Given the description of an element on the screen output the (x, y) to click on. 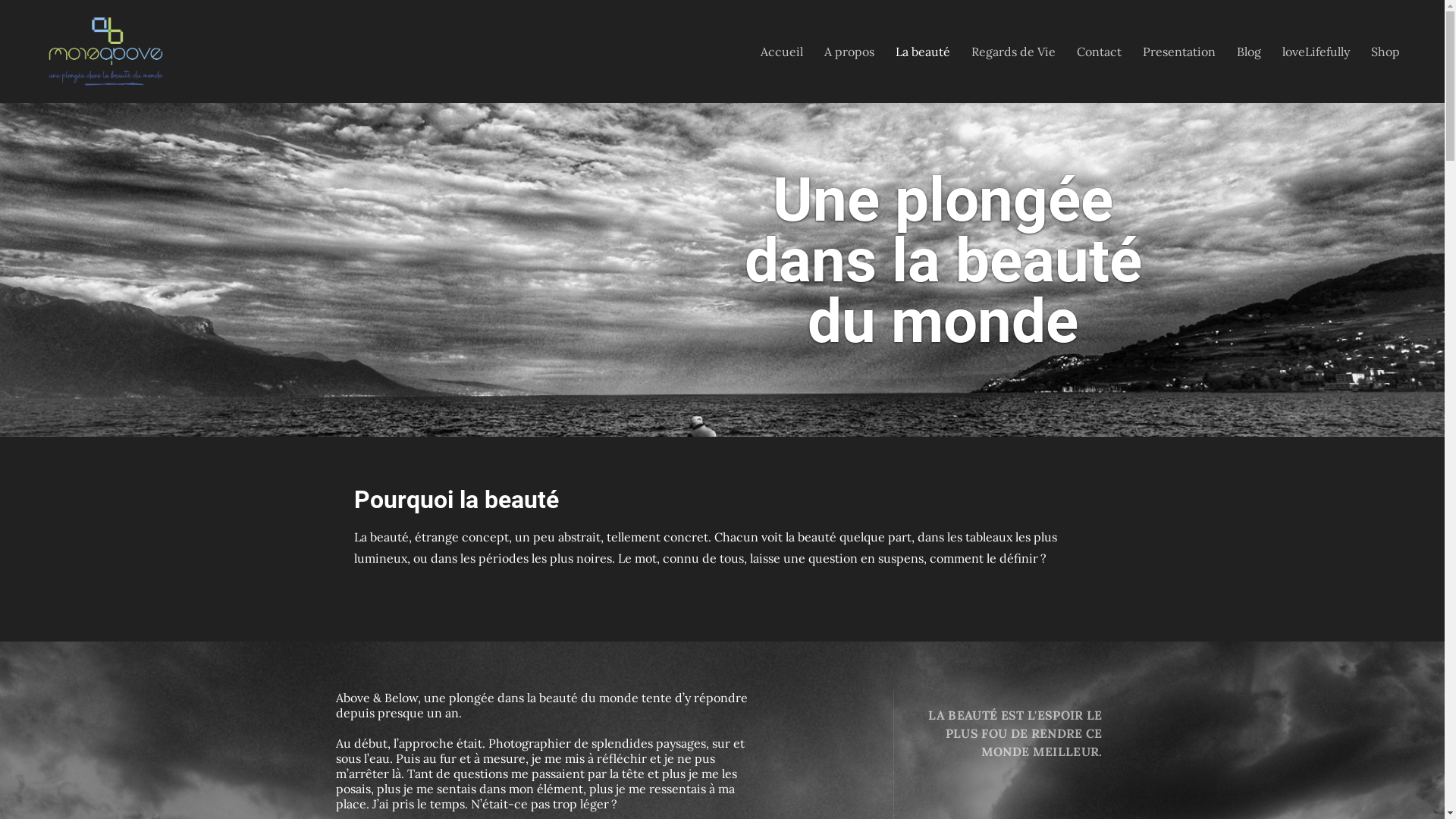
Blog Element type: text (1248, 51)
Presentation Element type: text (1178, 51)
Contact Element type: text (1098, 51)
Regards de Vie Element type: text (1013, 51)
Shop Element type: text (1384, 51)
Accueil Element type: text (781, 51)
A propos Element type: text (849, 51)
loveLifefully Element type: text (1315, 51)
